Given the description of an element on the screen output the (x, y) to click on. 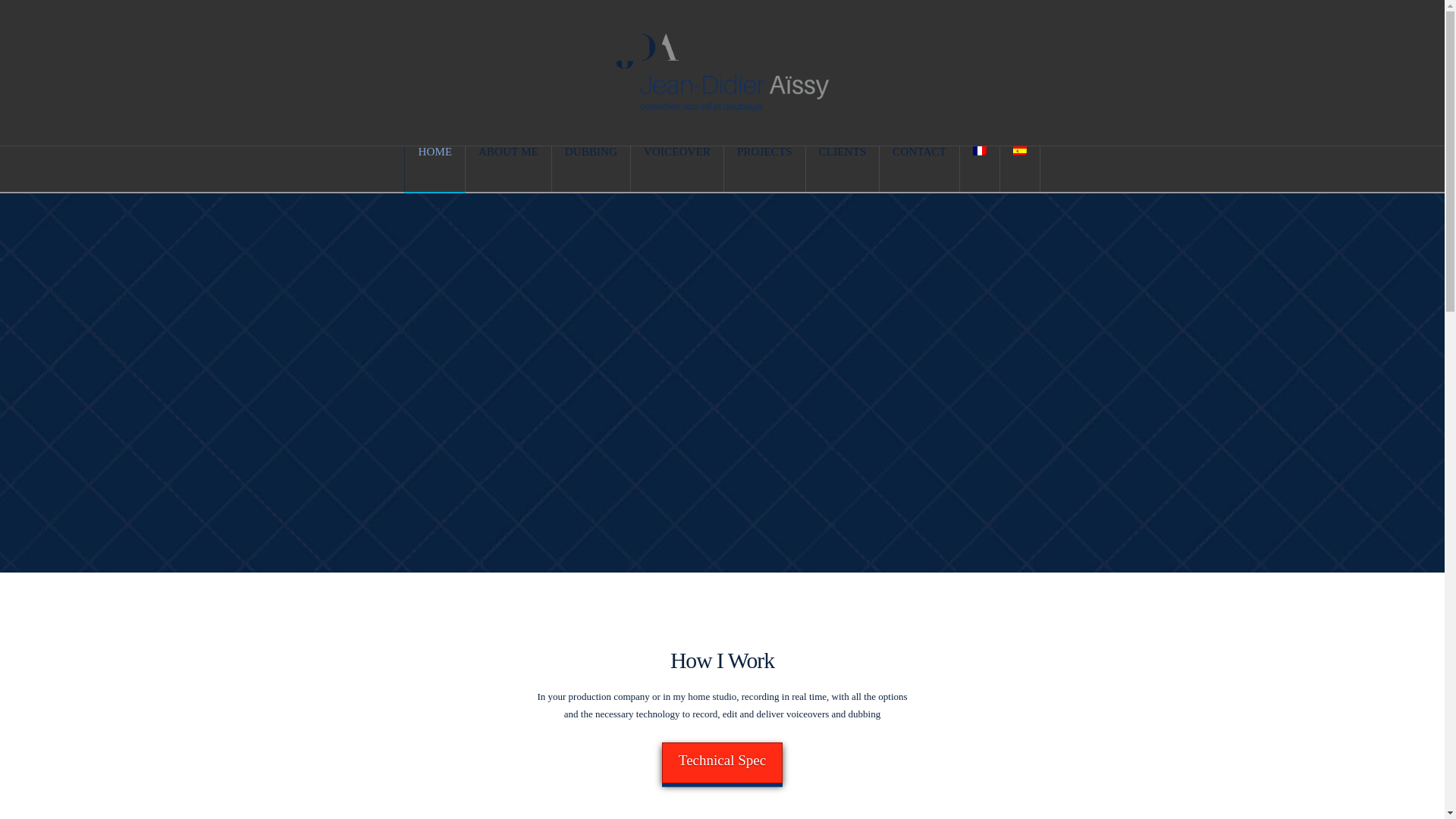
Technical Spec (722, 762)
ABOUT ME (508, 168)
HOME (434, 168)
DUBBING (590, 168)
CONTACT (919, 168)
Technical Spec (722, 762)
VOICEOVER (676, 168)
CLIENTS (843, 168)
PROJECTS (764, 168)
